Given the description of an element on the screen output the (x, y) to click on. 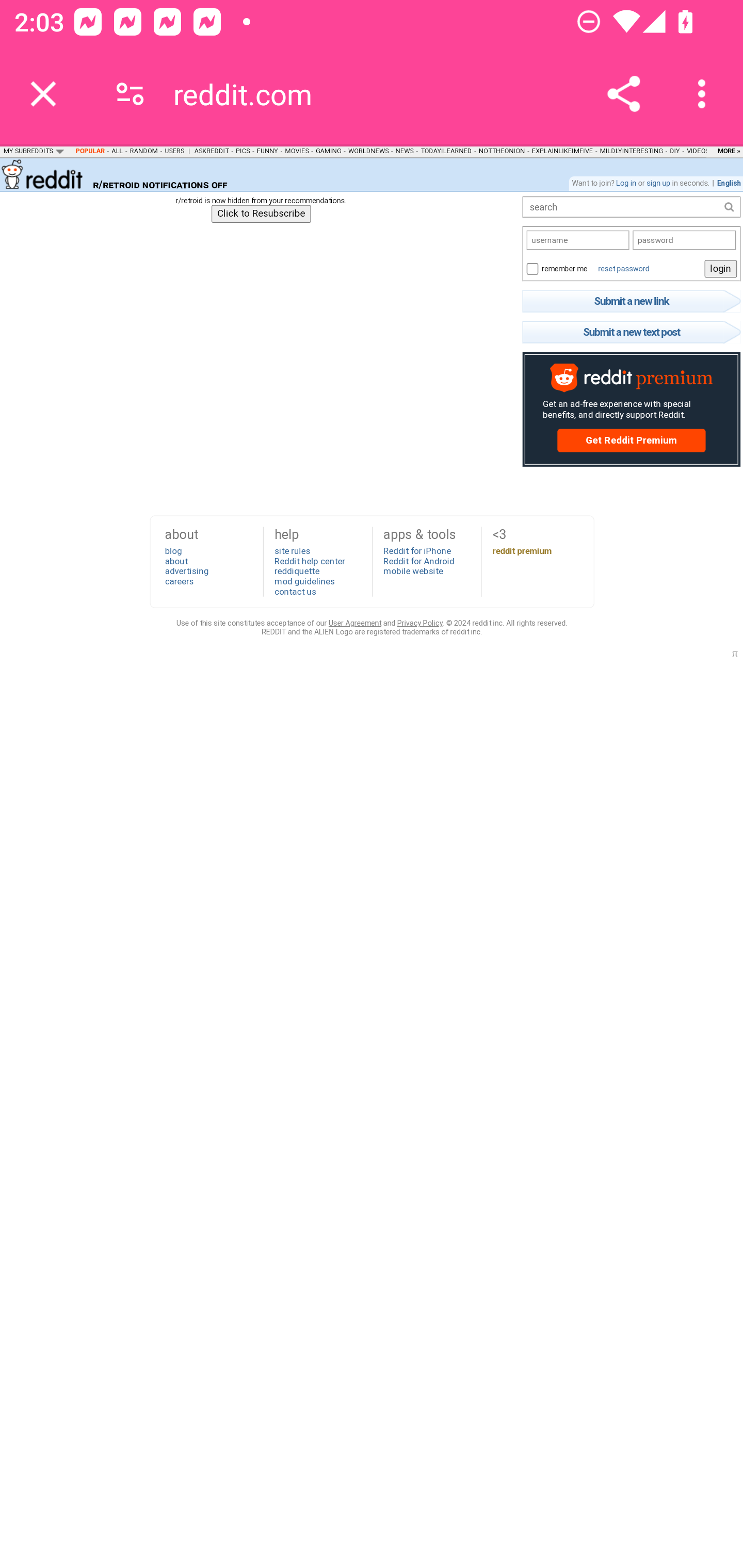
Close tab (43, 93)
Share (623, 93)
Customize and control Google Chrome (705, 93)
Connection is secure (129, 93)
reddit.com (249, 93)
RANDOM (143, 150)
FUNNY (267, 150)
reddit.com (43, 173)
Log in (625, 183)
sign up (658, 183)
English (728, 183)
Click to Resubscribe (260, 212)
login (720, 267)
remember me (531, 267)
reset password (623, 267)
Submit a new link (631, 301)
Submit a new text post (631, 332)
Get Reddit Premium (630, 440)
blog (173, 550)
site rules (291, 550)
Reddit for iPhone (416, 550)
reddit premium (521, 550)
about (175, 560)
Reddit help center (309, 560)
Reddit for Android (418, 560)
advertising (186, 570)
reddiquette (296, 570)
mobile website (412, 570)
careers (178, 580)
mod guidelines (304, 580)
contact us (294, 591)
User Agreement (354, 622)
Privacy Policy (419, 622)
